Given the description of an element on the screen output the (x, y) to click on. 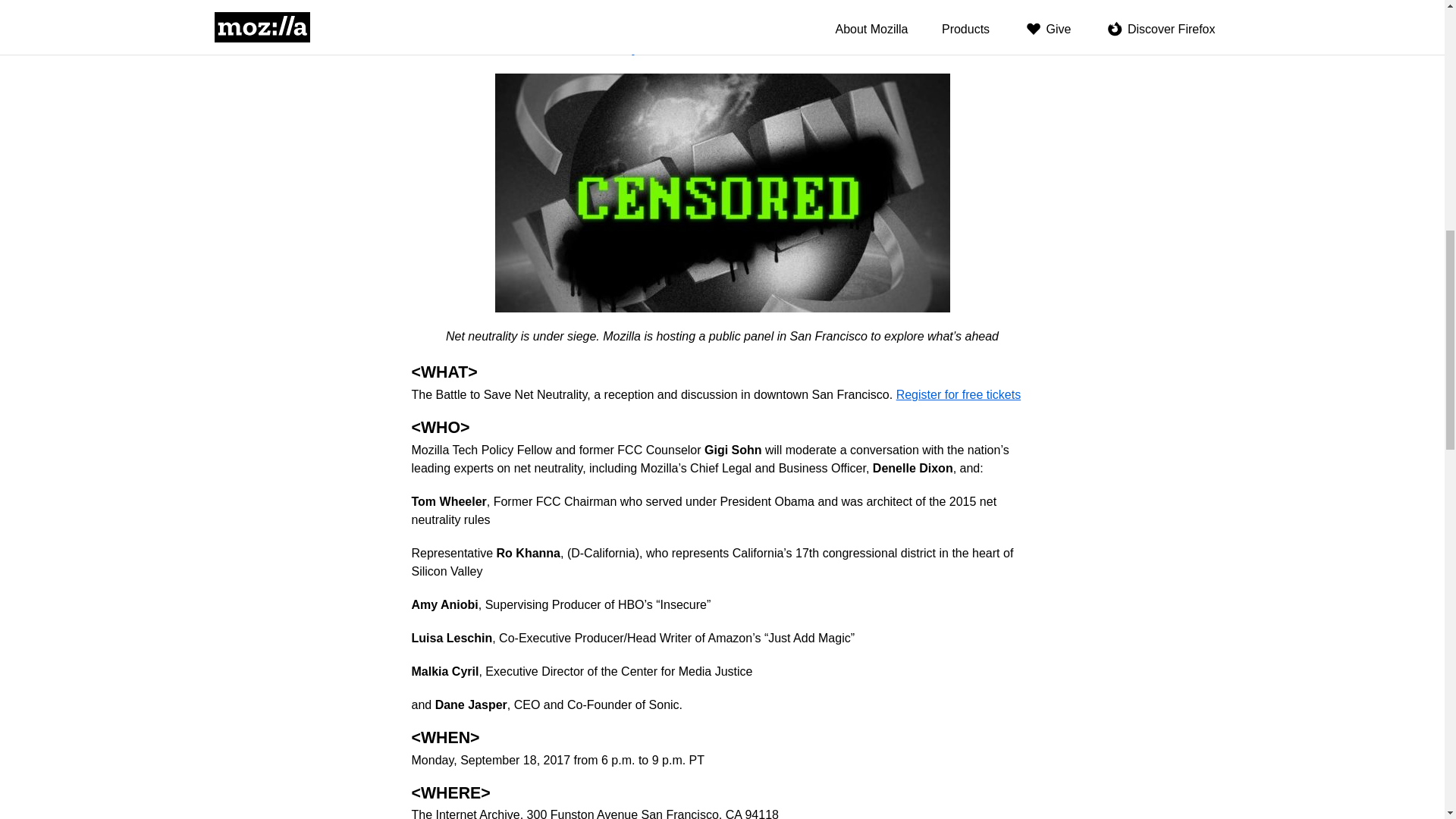
Register for free tickets (959, 394)
RSVP: The Battle to Save Net Neutrality (524, 48)
